Given the description of an element on the screen output the (x, y) to click on. 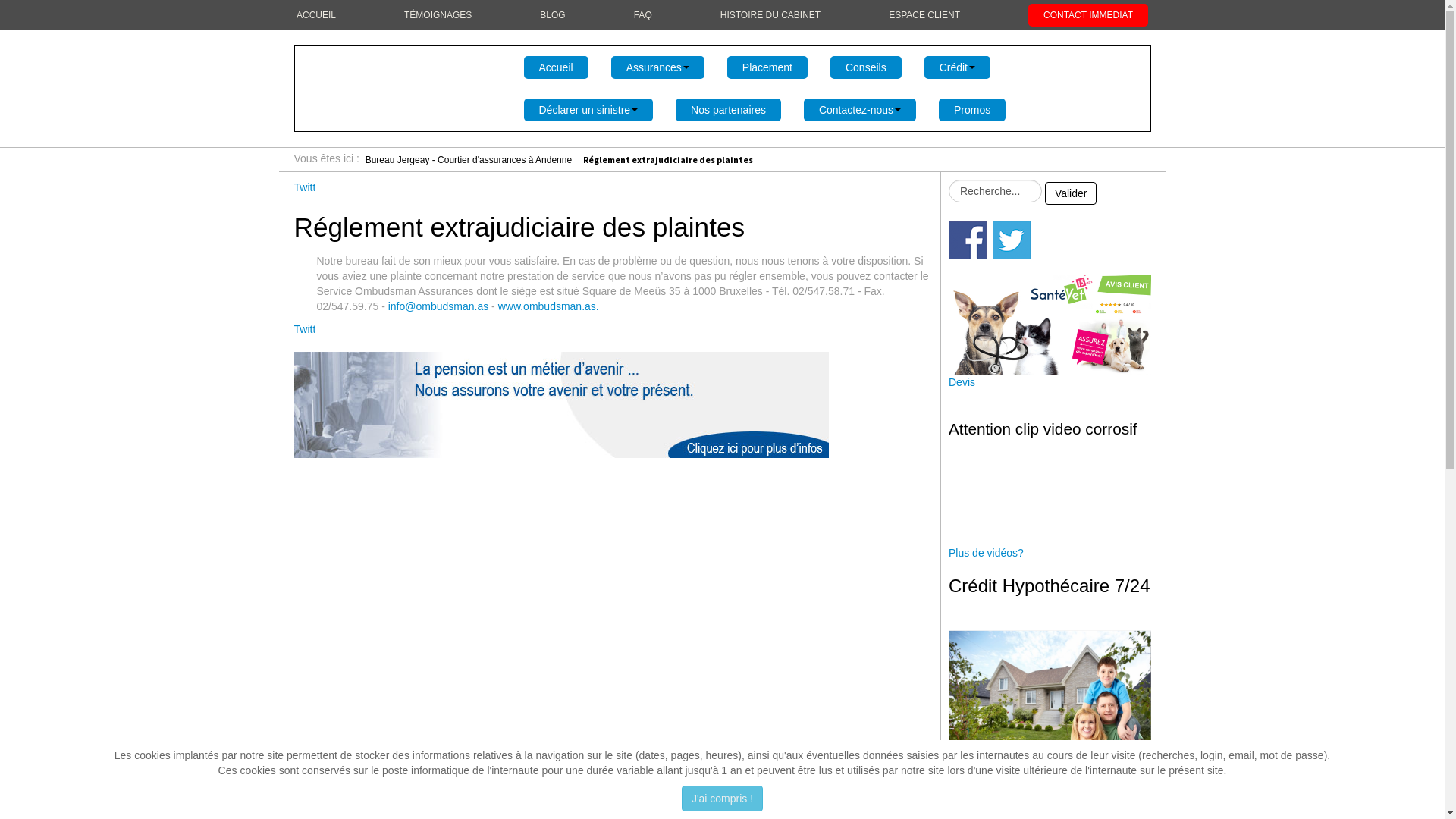
www.ombudsman.as. Element type: text (548, 306)
J'ai compris ! Element type: text (721, 798)
BLOG Element type: text (551, 15)
Twitt Element type: text (305, 329)
Accueil Element type: text (555, 67)
Promos Element type: text (971, 109)
ESPACE CLIENT Element type: text (924, 15)
info@ombudsman.as Element type: text (438, 306)
Assurances Element type: text (657, 67)
ACCUEIL Element type: text (315, 15)
Conseils Element type: text (865, 67)
Valider Element type: text (1070, 193)
epargne pension Element type: hover (561, 403)
Placement Element type: text (767, 67)
FAQ Element type: text (642, 15)
Nos partenaires Element type: text (728, 109)
Twitt Element type: text (305, 187)
HISTOIRE DU CABINET Element type: text (770, 15)
Devis Element type: text (961, 382)
CONTACT IMMEDIAT Element type: text (1088, 14)
Contactez-nous Element type: text (859, 109)
